Given the description of an element on the screen output the (x, y) to click on. 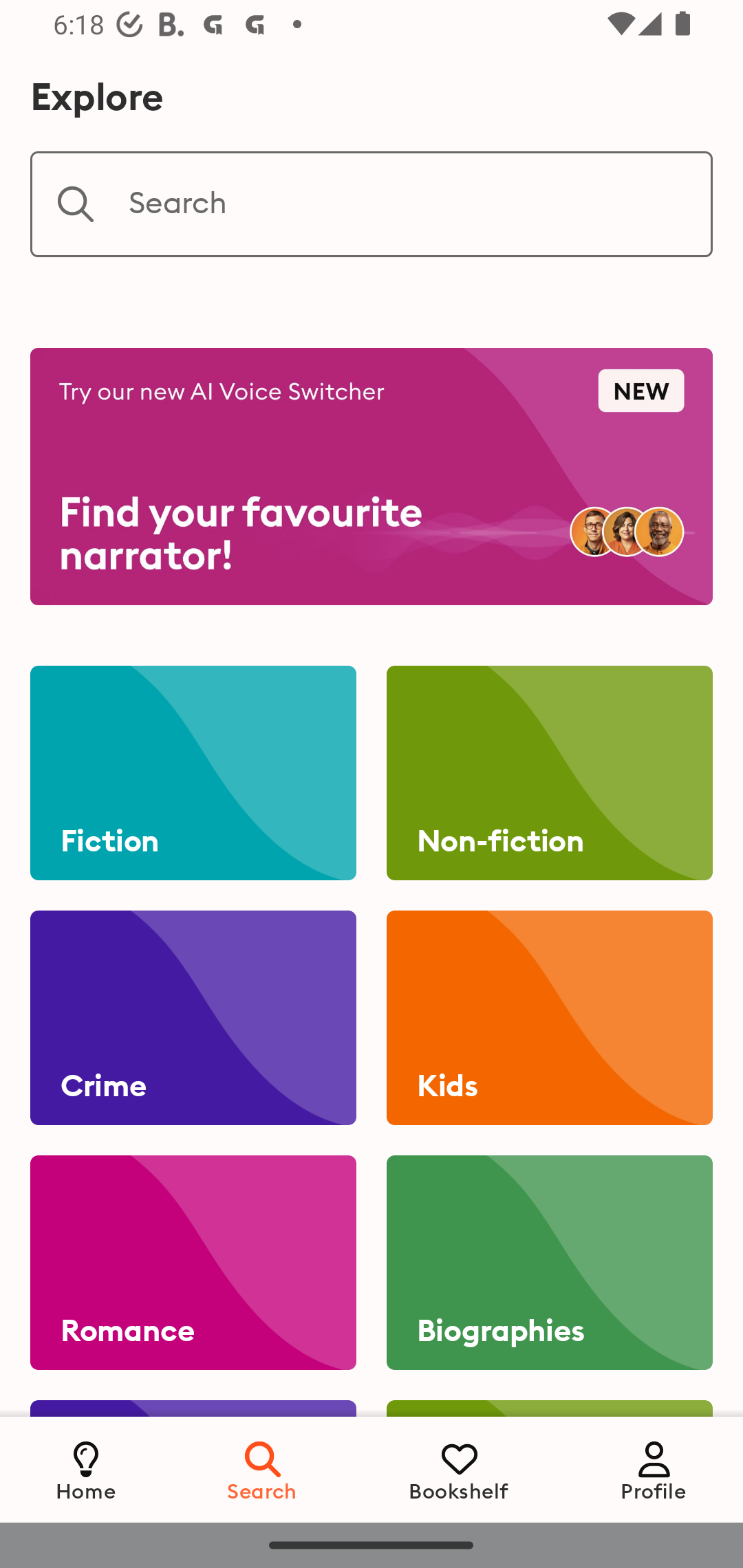
Search (371, 203)
Fiction (193, 772)
Non-fiction (549, 772)
Crime (193, 1018)
Kids (549, 1018)
Romance (193, 1262)
Biographies (549, 1262)
Home (85, 1468)
Search (262, 1468)
Bookshelf (458, 1468)
Profile (653, 1468)
